Given the description of an element on the screen output the (x, y) to click on. 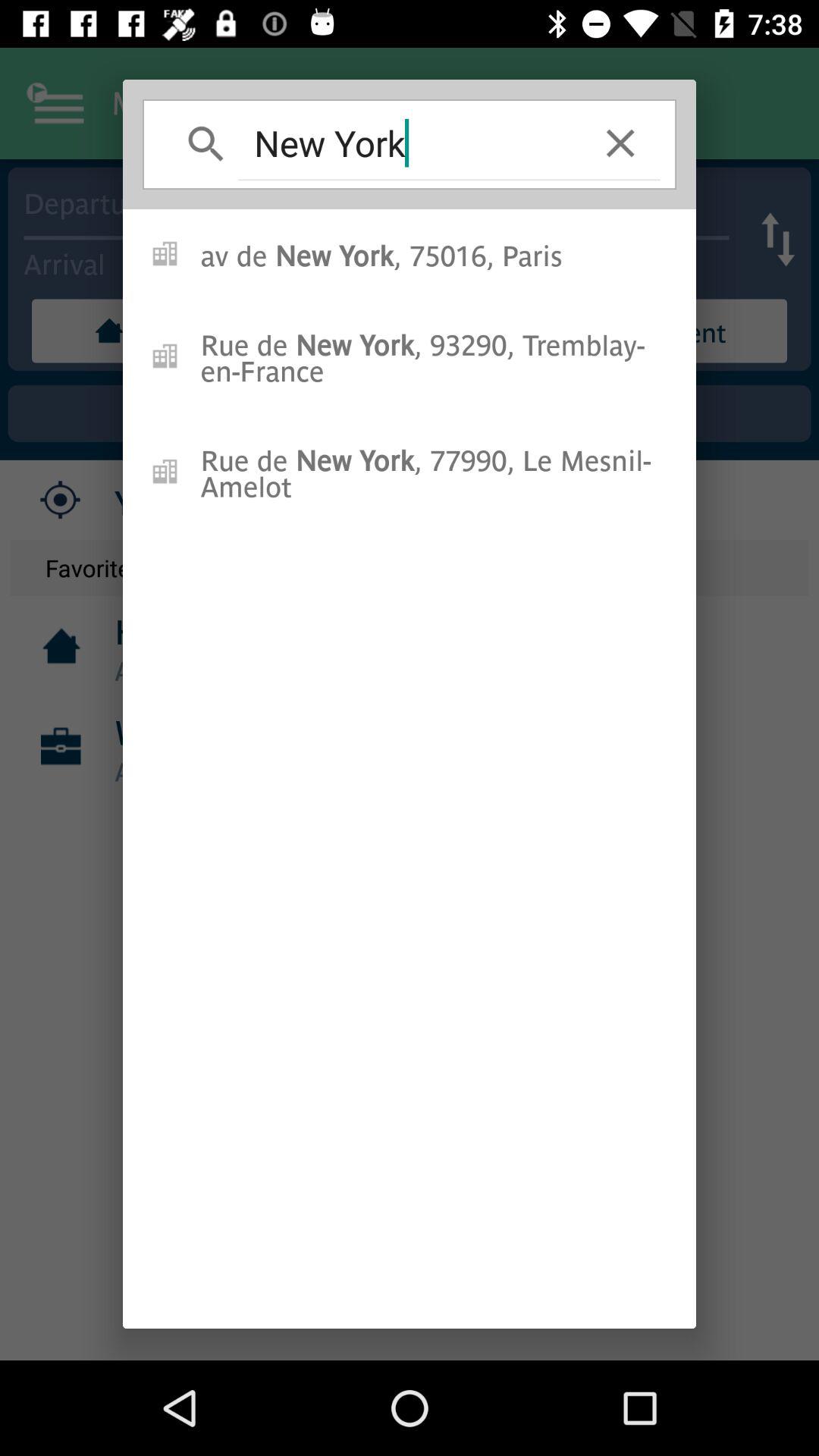
launch item at the top right corner (620, 143)
